Given the description of an element on the screen output the (x, y) to click on. 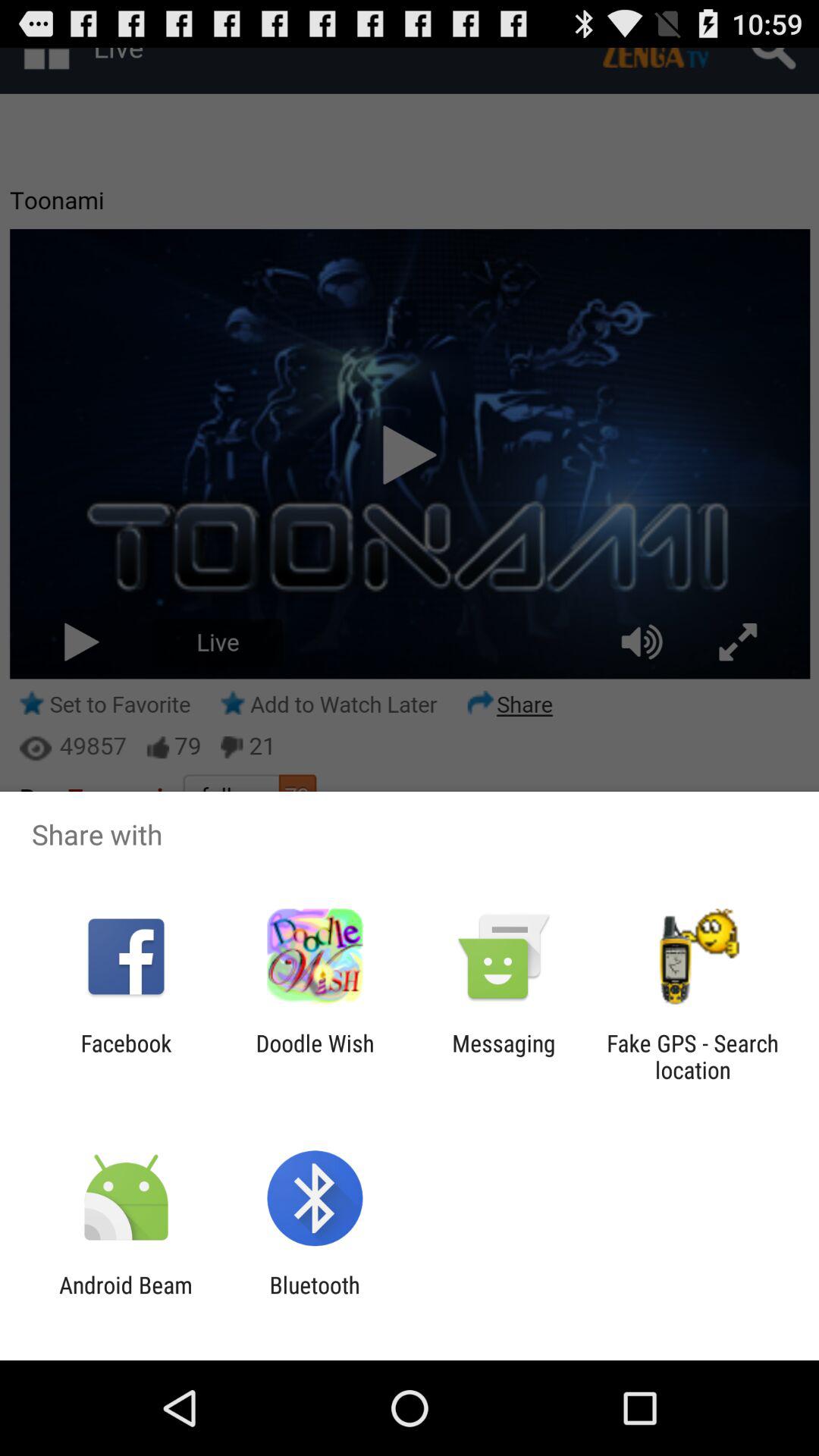
swipe until the android beam item (125, 1298)
